Given the description of an element on the screen output the (x, y) to click on. 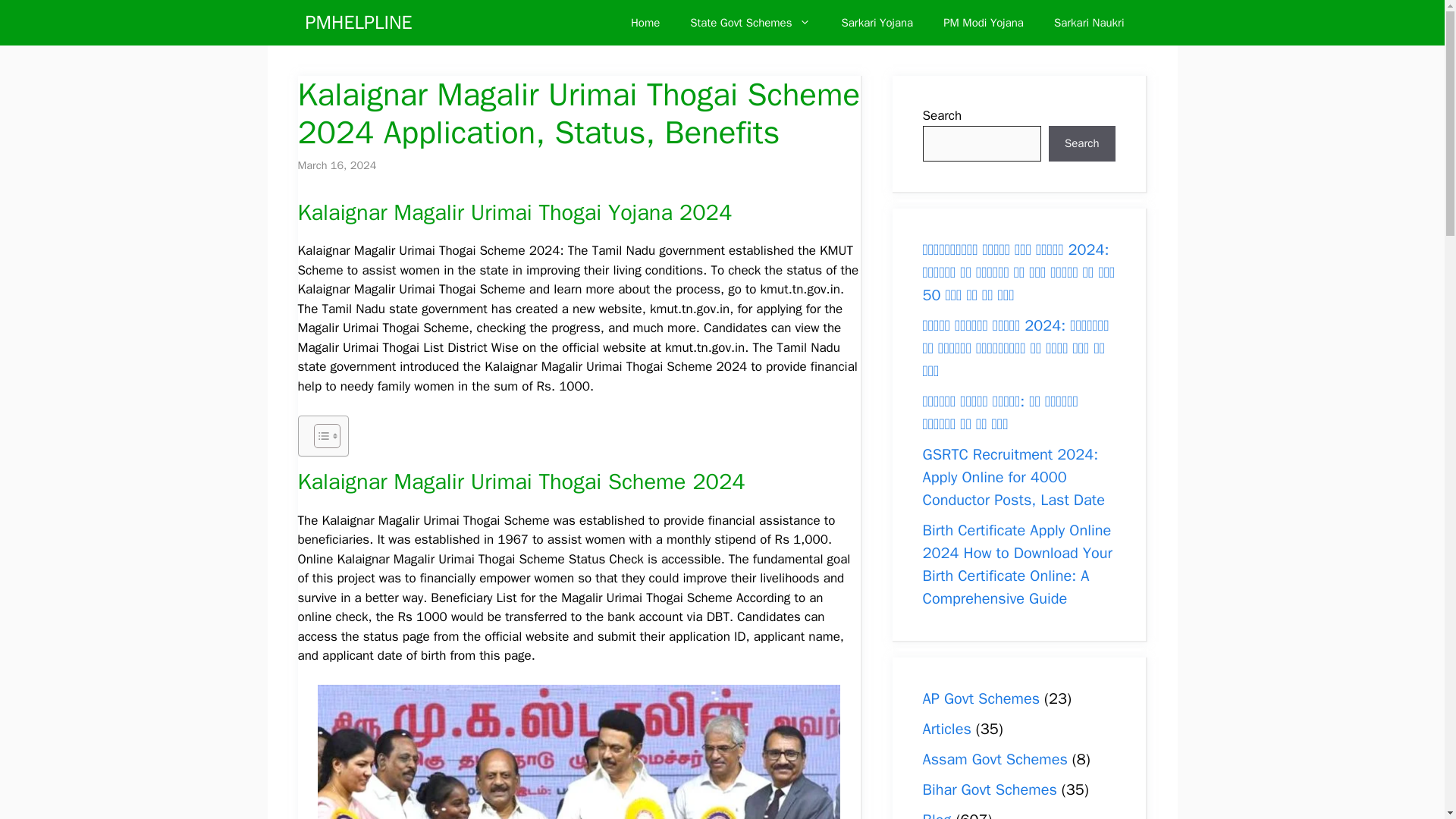
PM Modi Yojana (983, 22)
State Govt Schemes (750, 22)
Sarkari Naukri (1089, 22)
PMHELPLINE (358, 22)
Sarkari Yojana (876, 22)
Kalaignar Magalir Urimai Thogai Scheme (578, 751)
Home (645, 22)
